Given the description of an element on the screen output the (x, y) to click on. 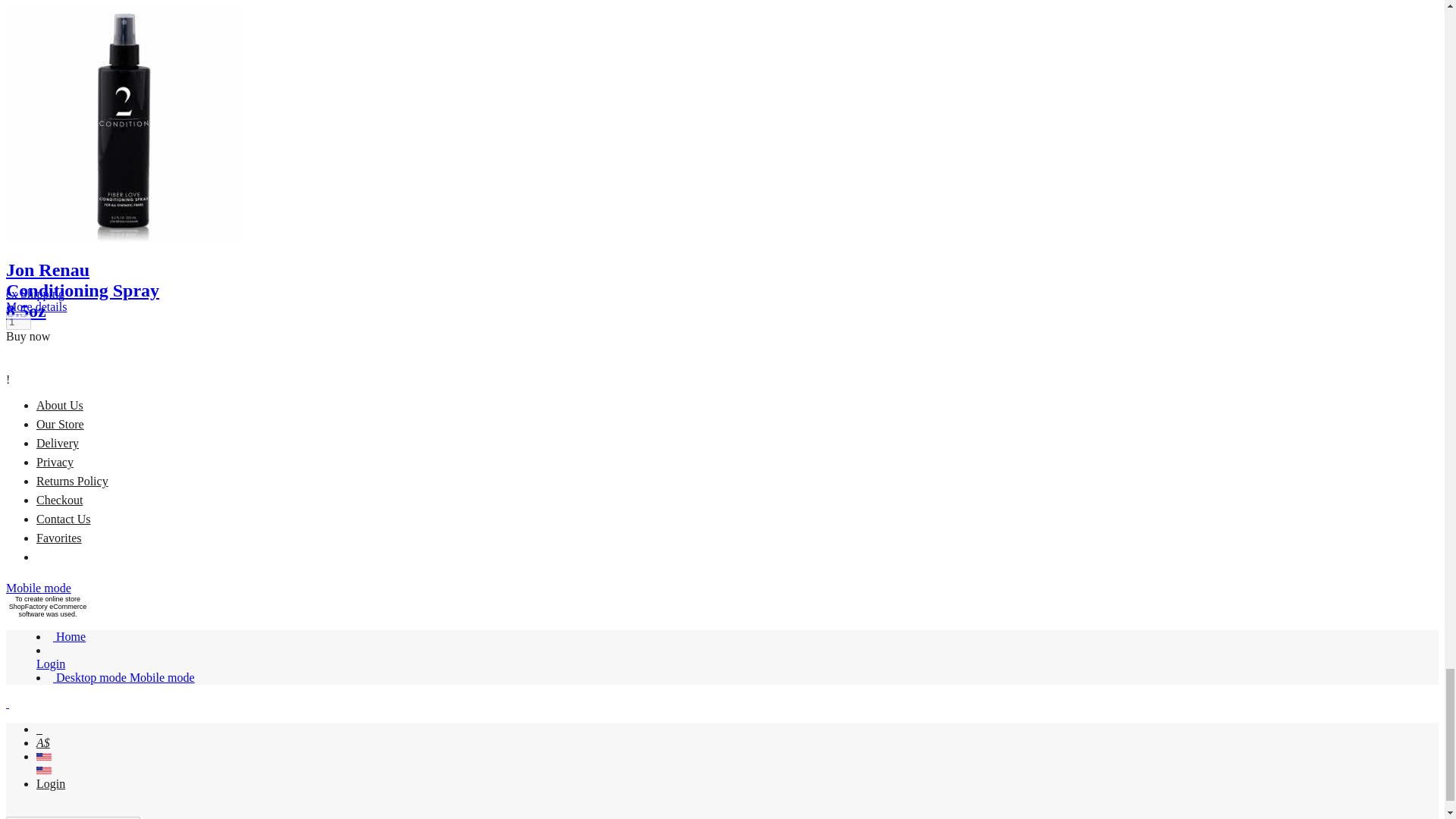
1 (17, 321)
